Given the description of an element on the screen output the (x, y) to click on. 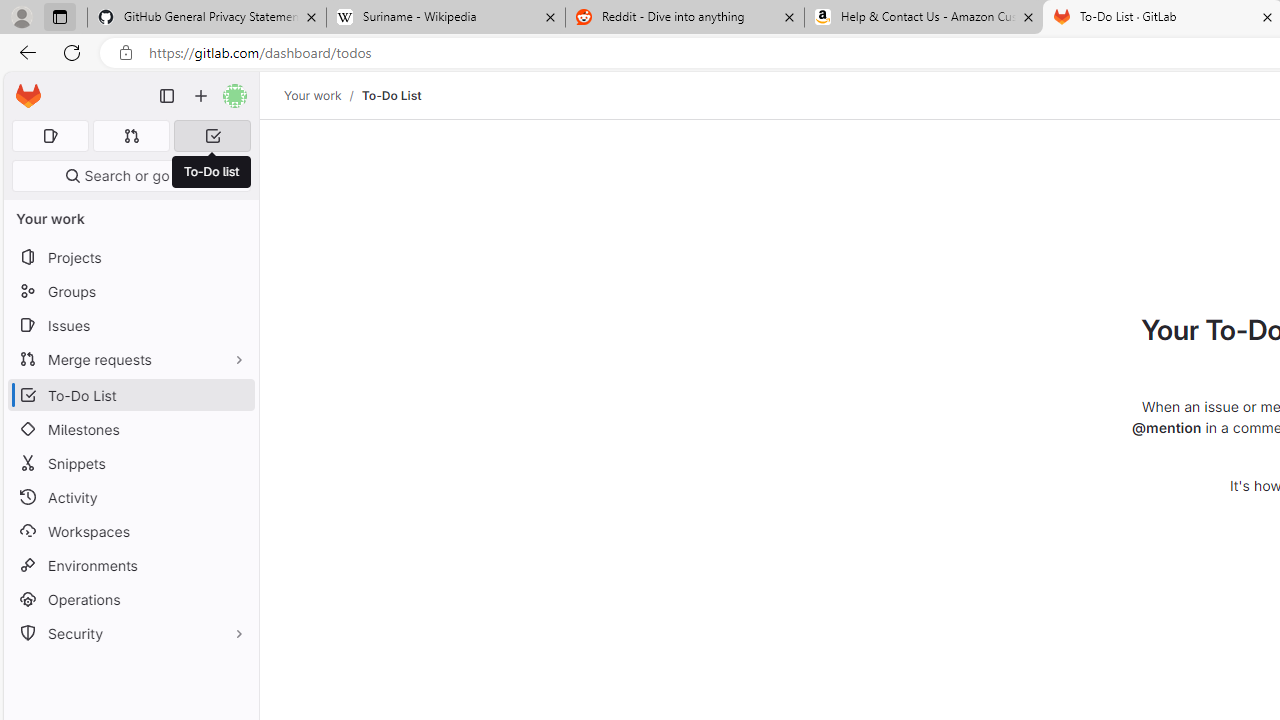
Operations (130, 599)
